Given the description of an element on the screen output the (x, y) to click on. 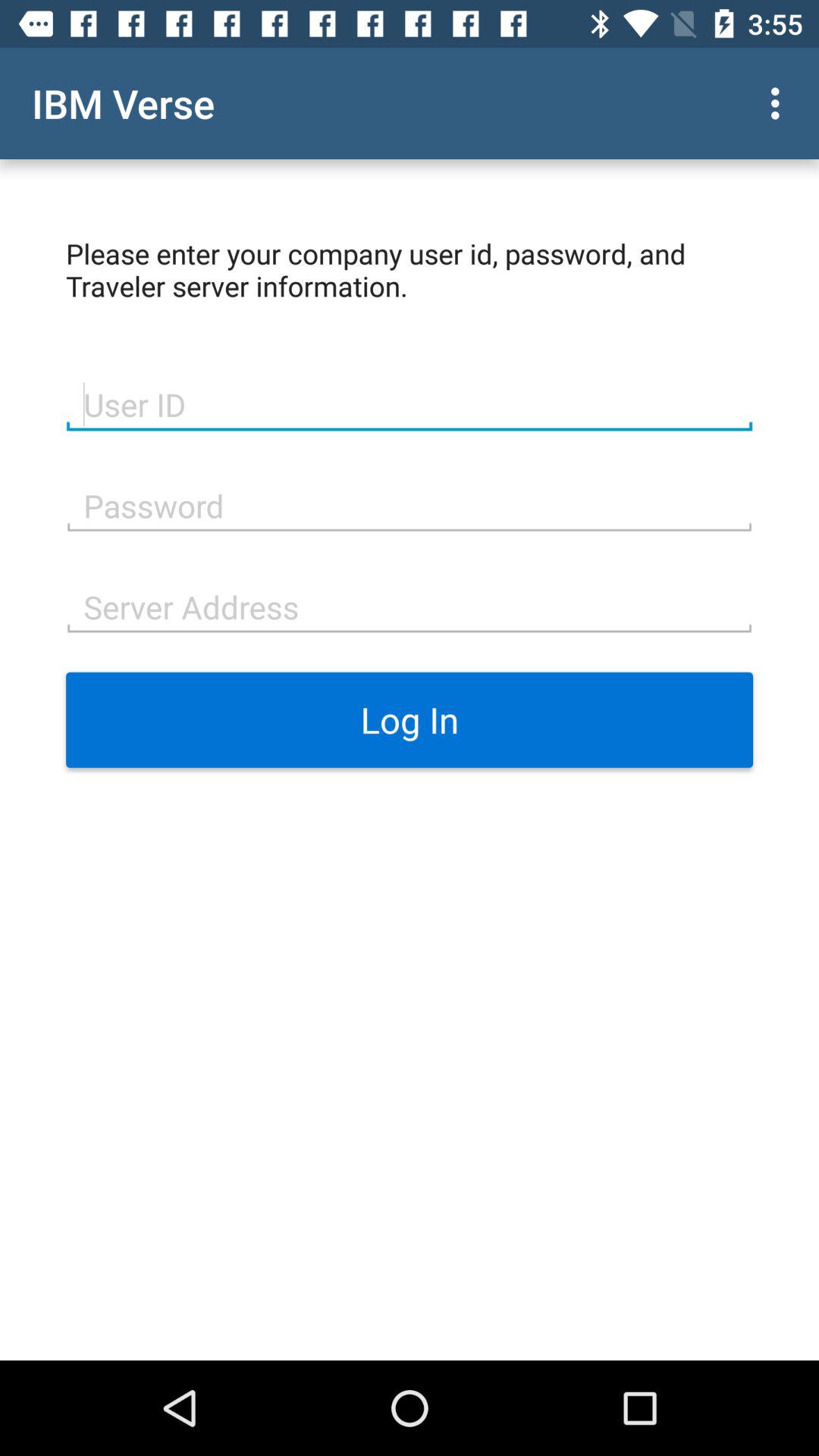
turn off item at the top right corner (779, 103)
